Given the description of an element on the screen output the (x, y) to click on. 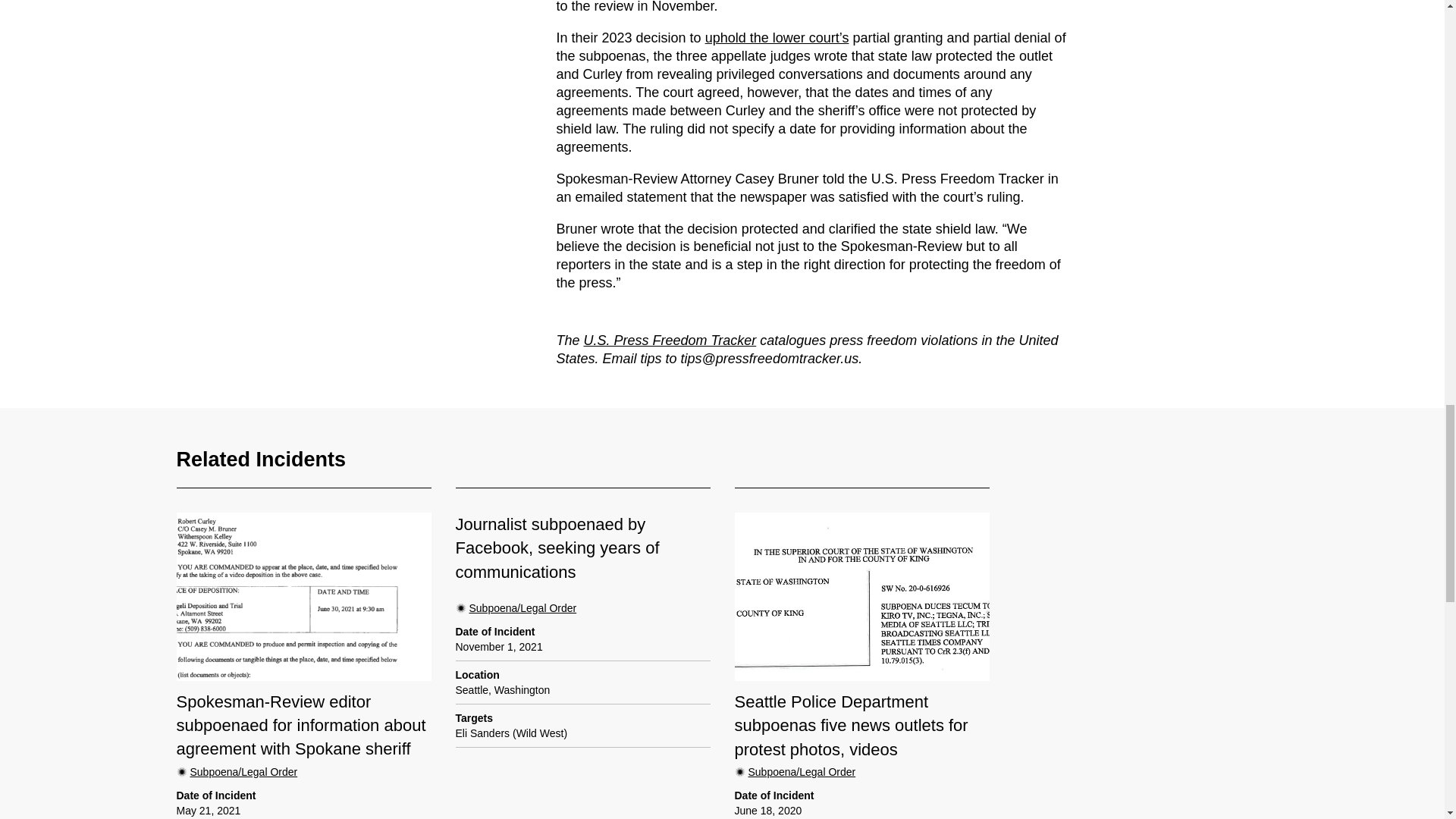
U.S. Press Freedom Tracker (670, 340)
